Given the description of an element on the screen output the (x, y) to click on. 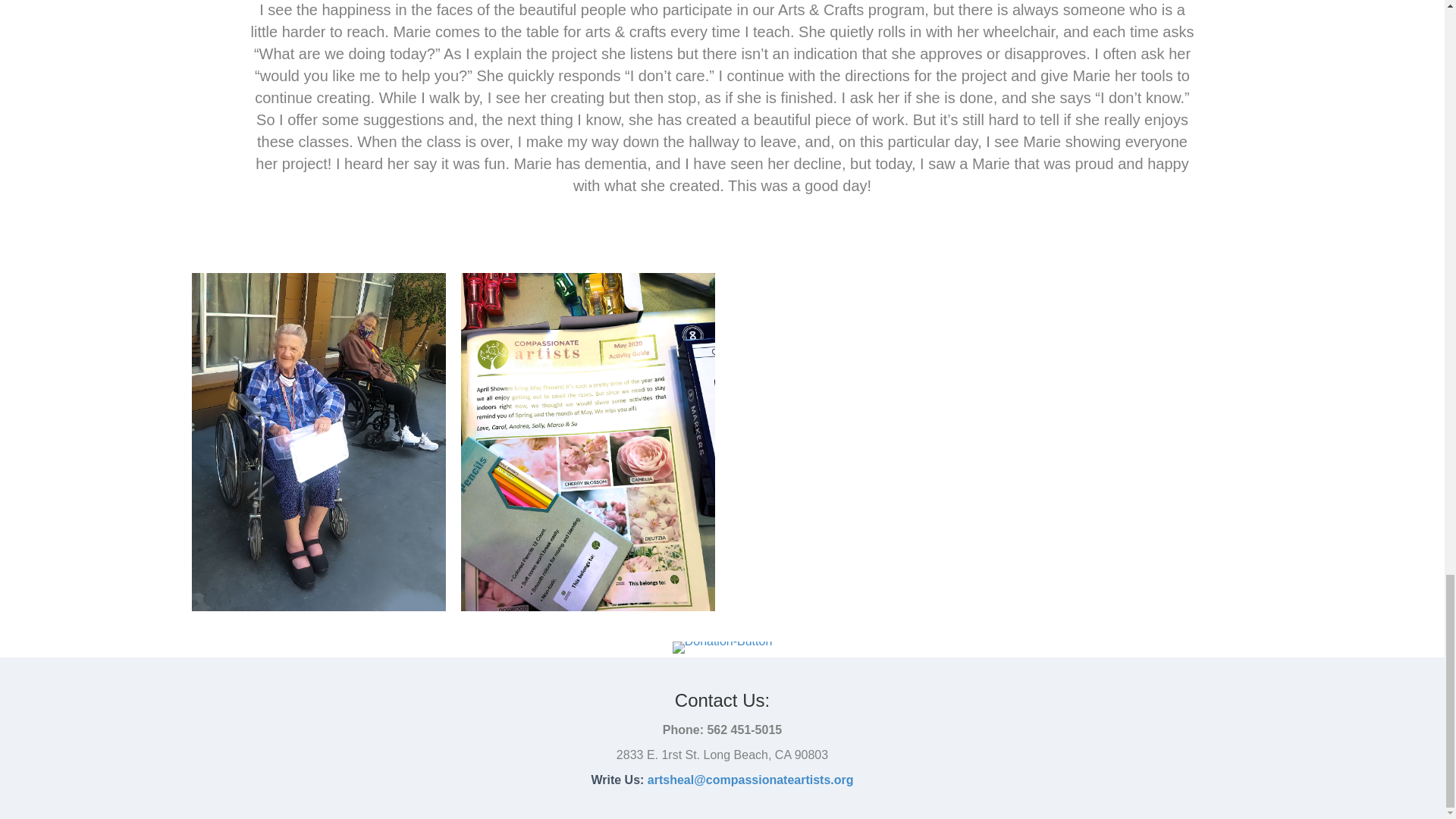
Donation-Button (722, 647)
